Given the description of an element on the screen output the (x, y) to click on. 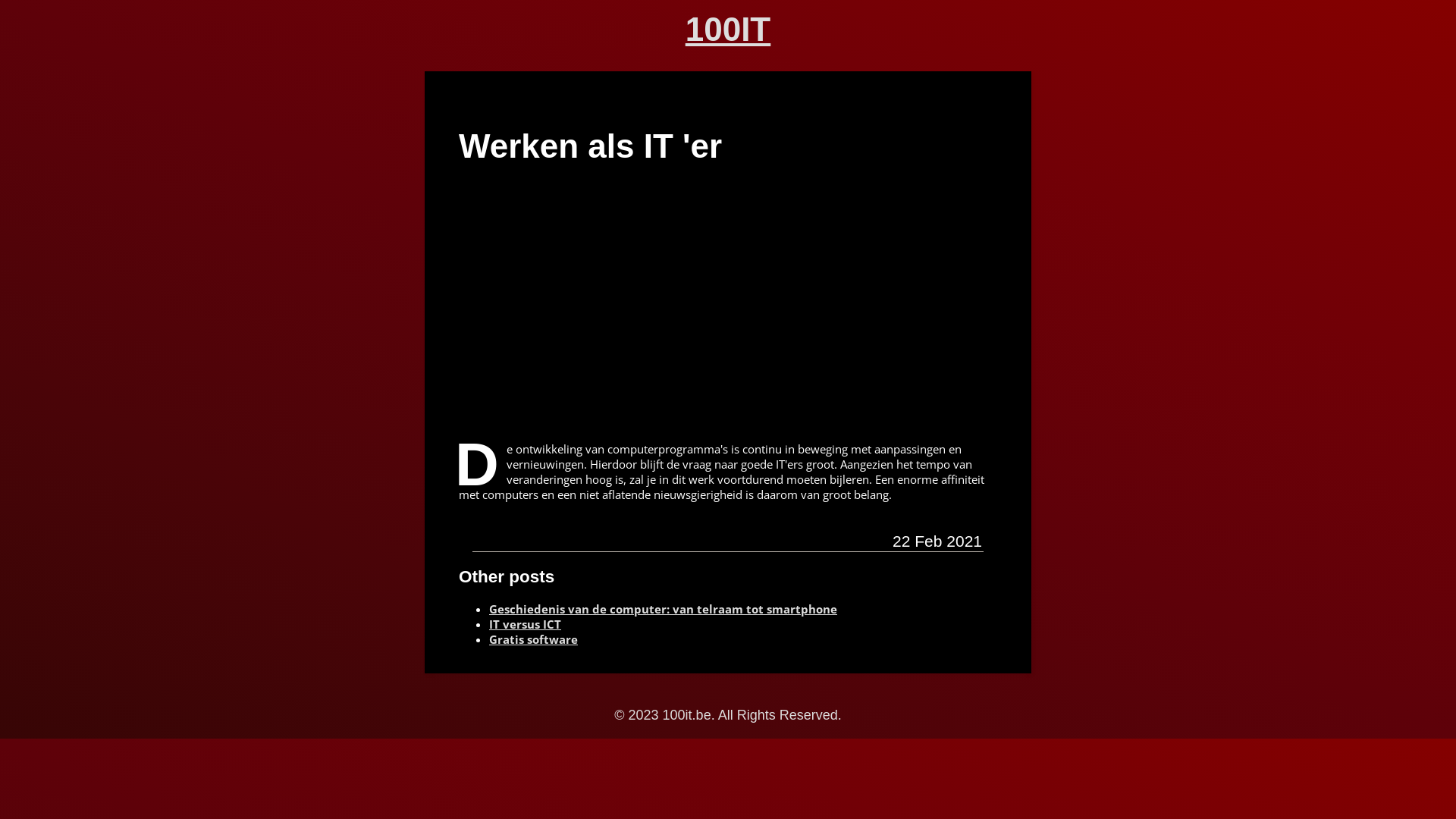
IT versus ICT Element type: text (525, 623)
RSS Element type: hover (531, 538)
Facebook Element type: hover (483, 538)
Twitter Element type: hover (499, 538)
Geschiedenis van de computer: van telraam tot smartphone Element type: text (663, 608)
Gratis software Element type: text (533, 638)
100IT Element type: text (727, 29)
LinkedIn Element type: hover (515, 538)
